Given the description of an element on the screen output the (x, y) to click on. 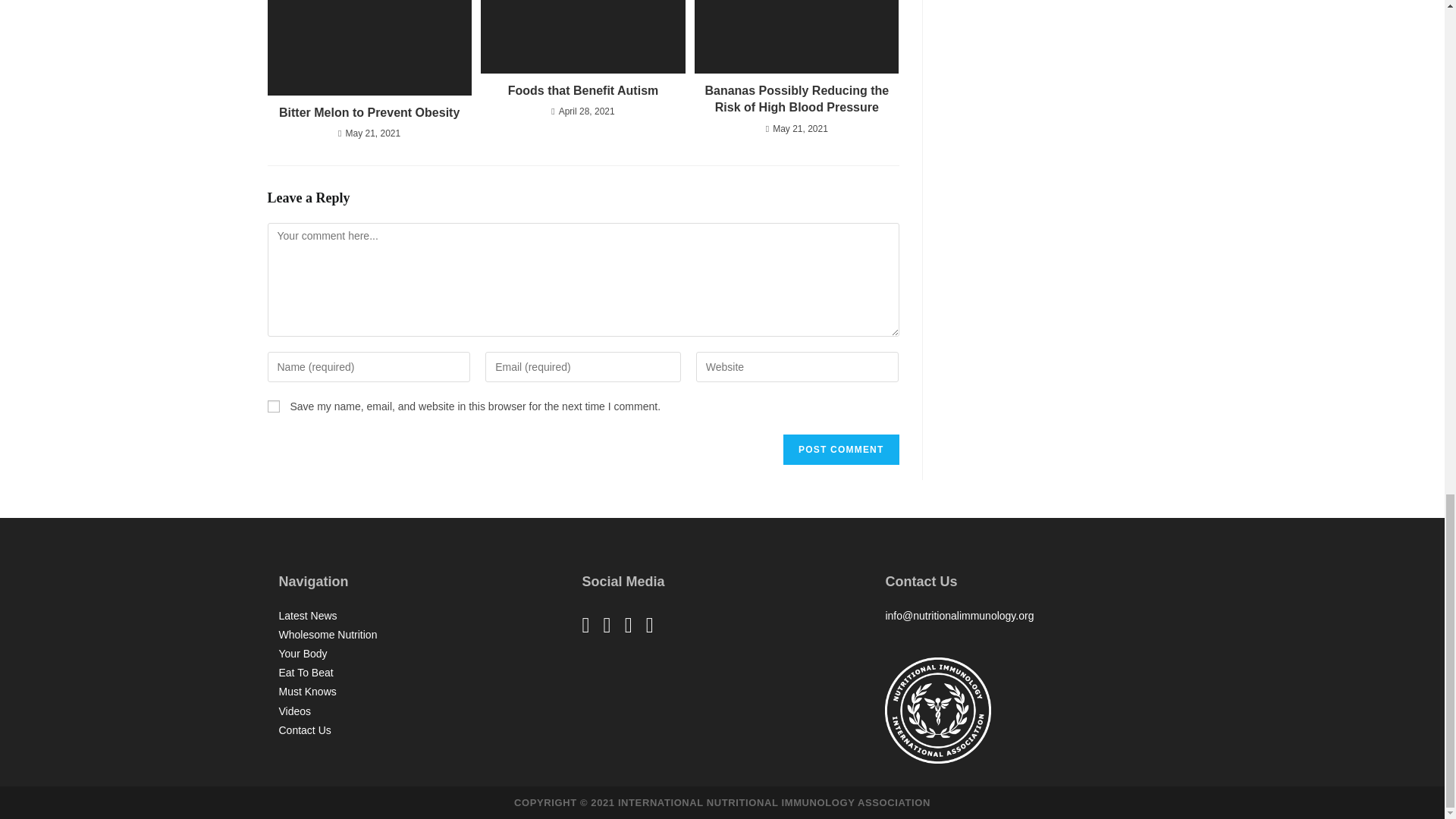
Foods that Benefit Autism (582, 90)
yes (272, 406)
Bitter Melon to Prevent Obesity (368, 112)
Post Comment (840, 449)
Bananas Possibly Reducing the Risk of High Blood Pressure (796, 99)
Bitter Melon to Prevent Obesity (368, 112)
Bananas Possibly Reducing the Risk of High Blood Pressure (796, 99)
Foods that Benefit Autism (582, 90)
